Given the description of an element on the screen output the (x, y) to click on. 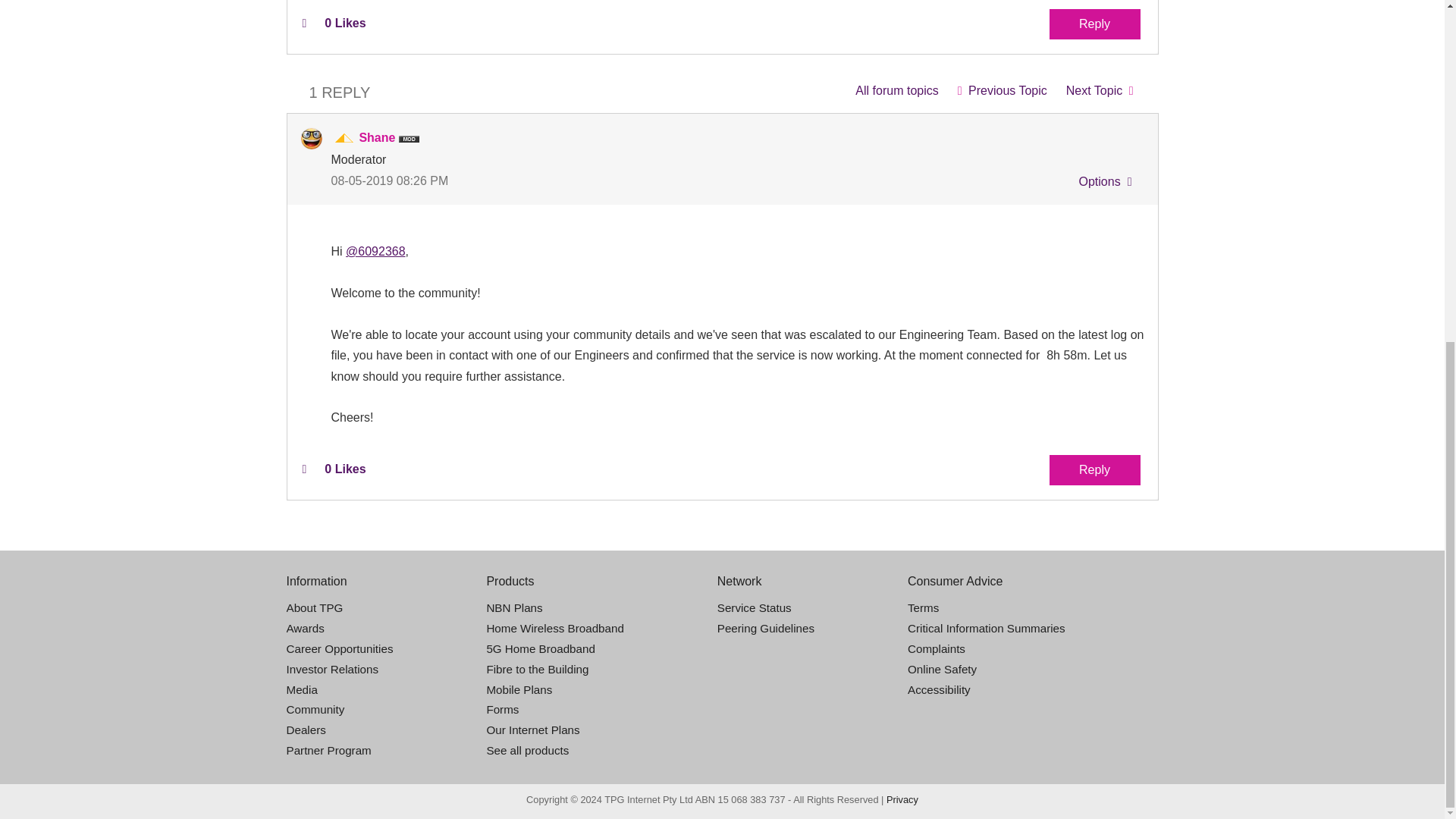
Shane (310, 138)
The total number of kudos this post has received. (344, 23)
Accounts and Billing (896, 90)
NBN cancellation (1099, 90)
Moderator (344, 138)
